Given the description of an element on the screen output the (x, y) to click on. 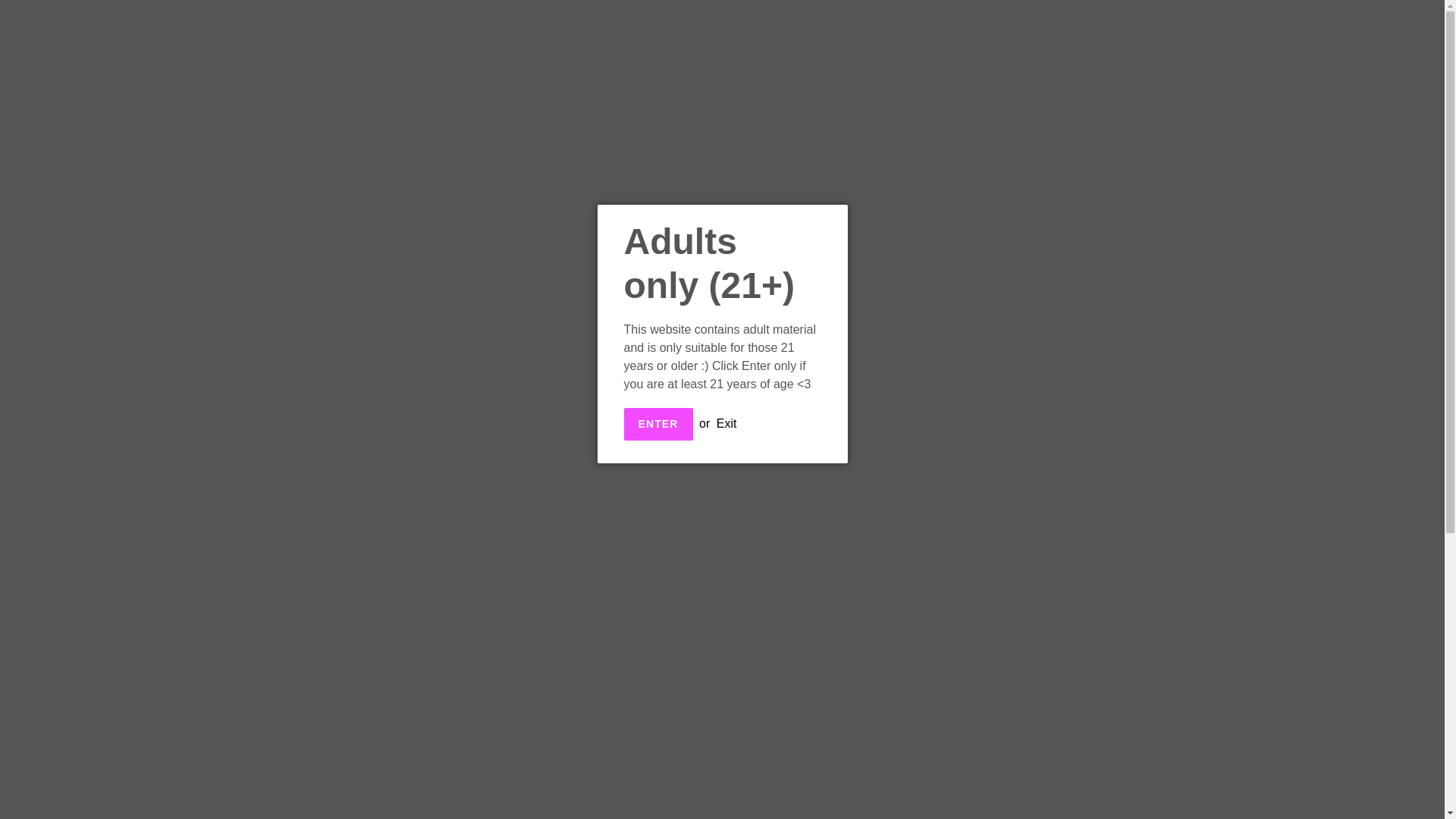
Cart (1387, 78)
Faq, Refunds (924, 123)
Exit (726, 422)
LIGHTERS (681, 123)
Home (421, 123)
JARS (745, 123)
Summer Collection (580, 123)
Log in (1355, 78)
ENTER (658, 423)
Contact Us (1008, 123)
Search (1326, 77)
ADD TO CART (884, 326)
SALE (852, 123)
TUBES (799, 123)
